Given the description of an element on the screen output the (x, y) to click on. 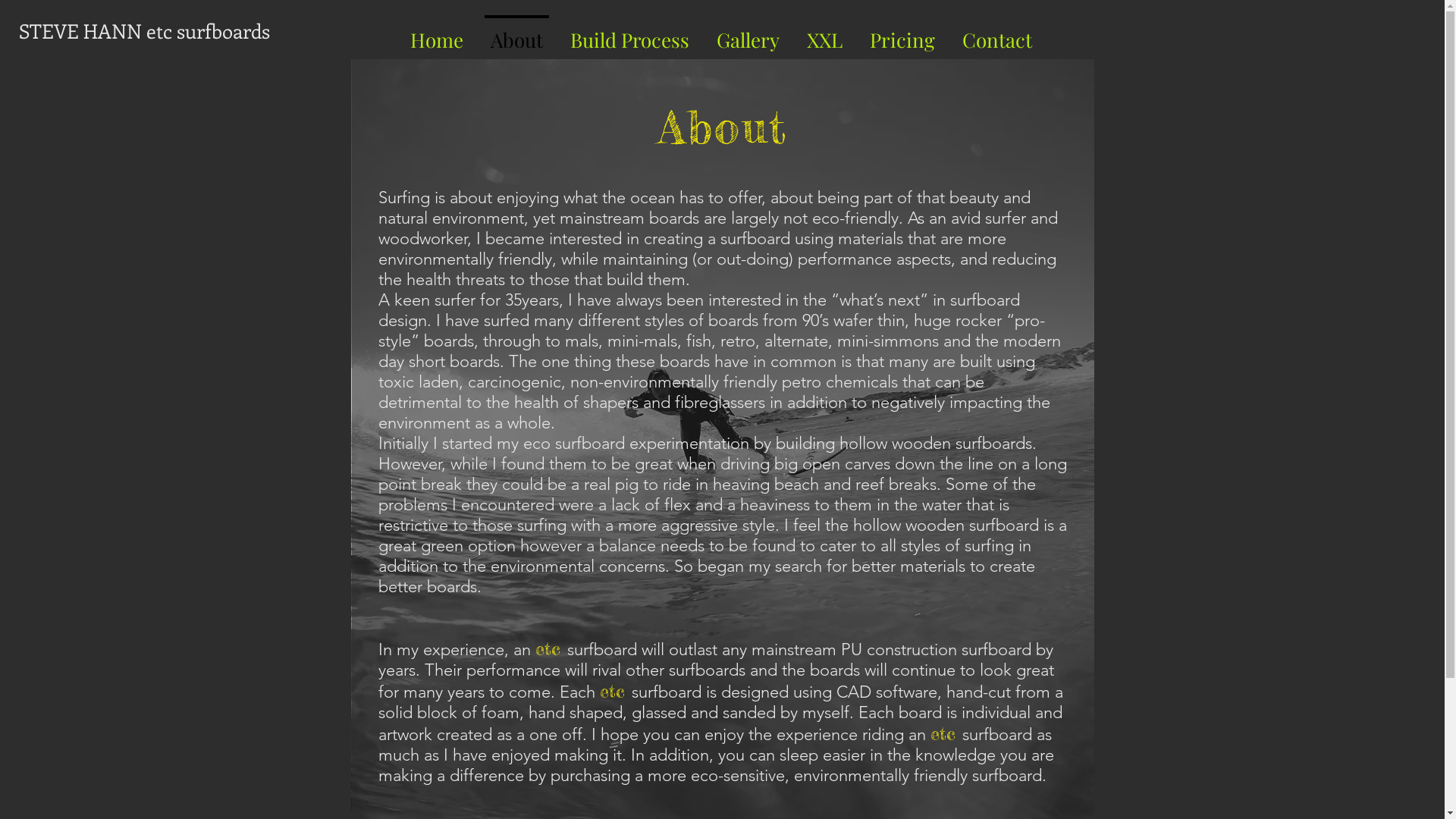
Gallery Element type: text (747, 32)
XXL Element type: text (824, 32)
About Element type: text (515, 32)
Build Process Element type: text (629, 32)
Contact Element type: text (995, 32)
Home Element type: text (435, 32)
STEVE HANN etc surfboards Element type: text (144, 30)
Pricing Element type: text (901, 32)
